Given the description of an element on the screen output the (x, y) to click on. 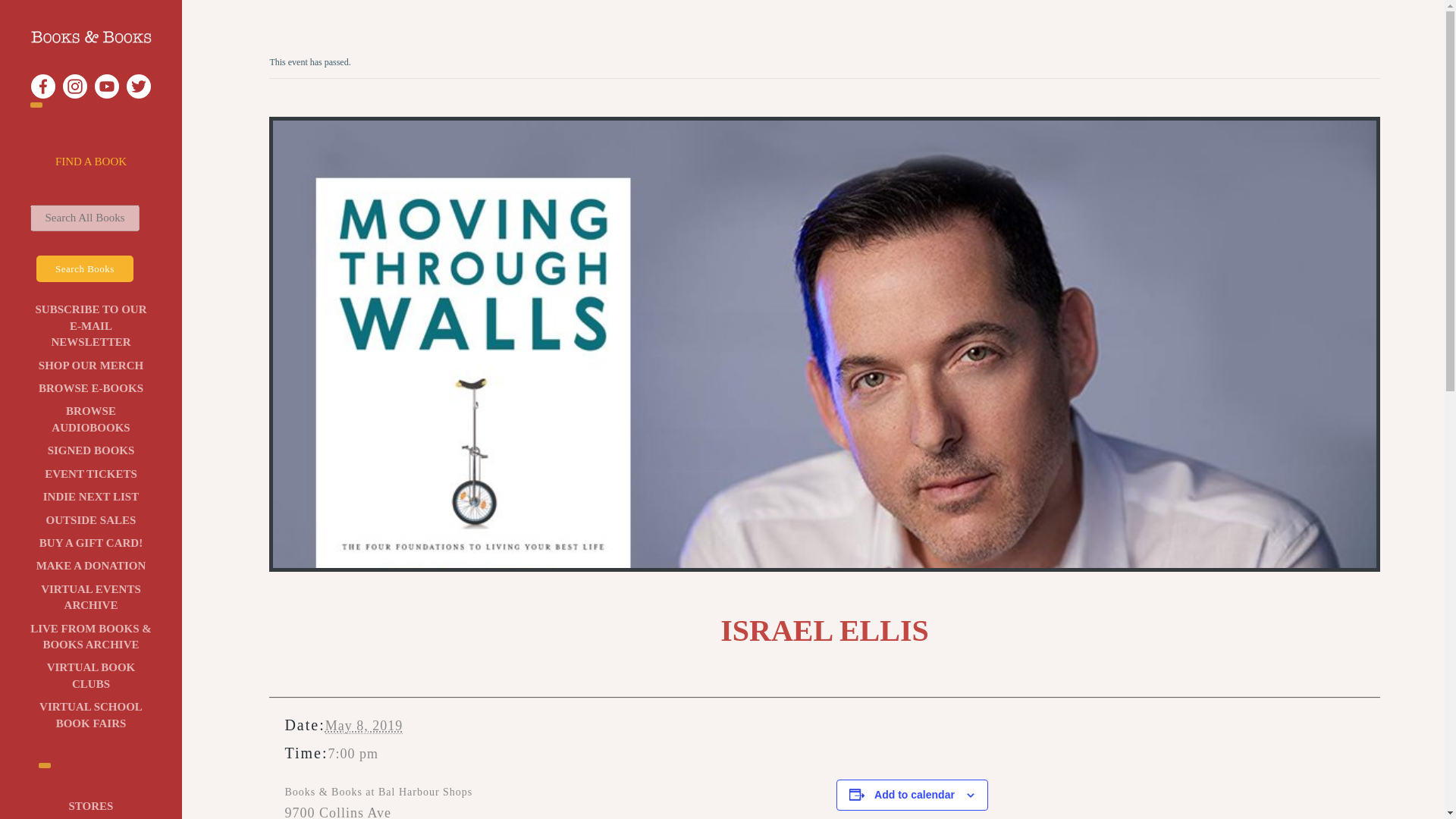
BUY A GIFT CARD! (90, 543)
SIGNED BOOKS (89, 451)
2019-05-08 (352, 754)
2019-05-08 (363, 725)
Search Books (84, 268)
VIRTUAL SCHOOL BOOK FAIRS (90, 715)
MAKE A DONATION (90, 565)
Search Books (71, 268)
INDIE NEXT LIST (90, 497)
VIRTUAL EVENTS ARCHIVE (90, 598)
OUTSIDE SALES (90, 520)
BROWSE AUDIOBOOKS (90, 808)
SHOP OUR MERCH (87, 419)
SUBSCRIBE TO OUR E-MAIL NEWSLETTER (83, 365)
